Given the description of an element on the screen output the (x, y) to click on. 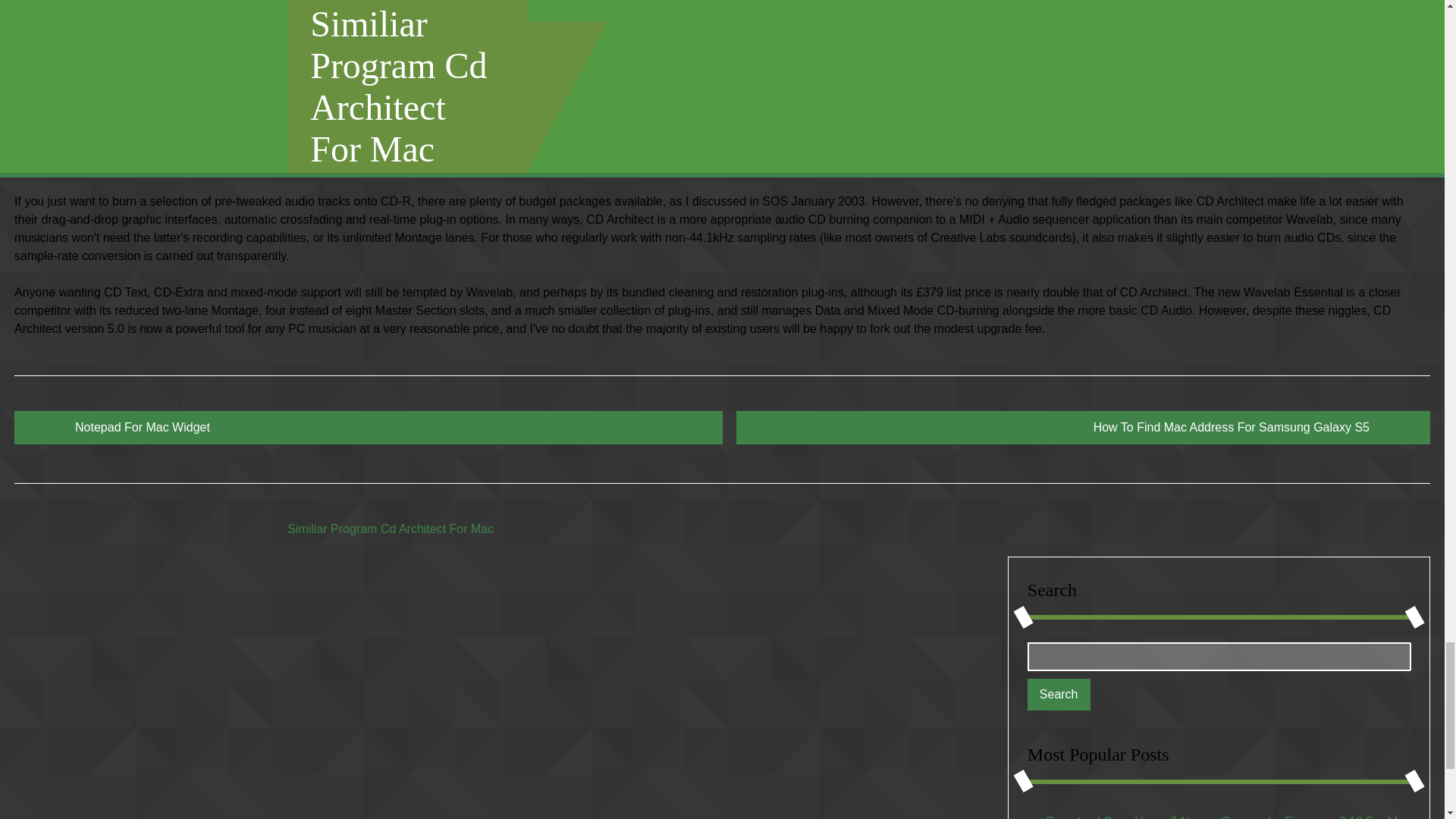
Similiar Program Cd Architect For Mac (389, 528)
Notepad For Mac Widget (368, 427)
Download Sony Hxr-nx3 Nxcam Camcorder Firmware 2.10 For Mac (1228, 816)
Search (1058, 694)
How To Find Mac Address For Samsung Galaxy S5 (1082, 427)
Search (1058, 694)
